Given the description of an element on the screen output the (x, y) to click on. 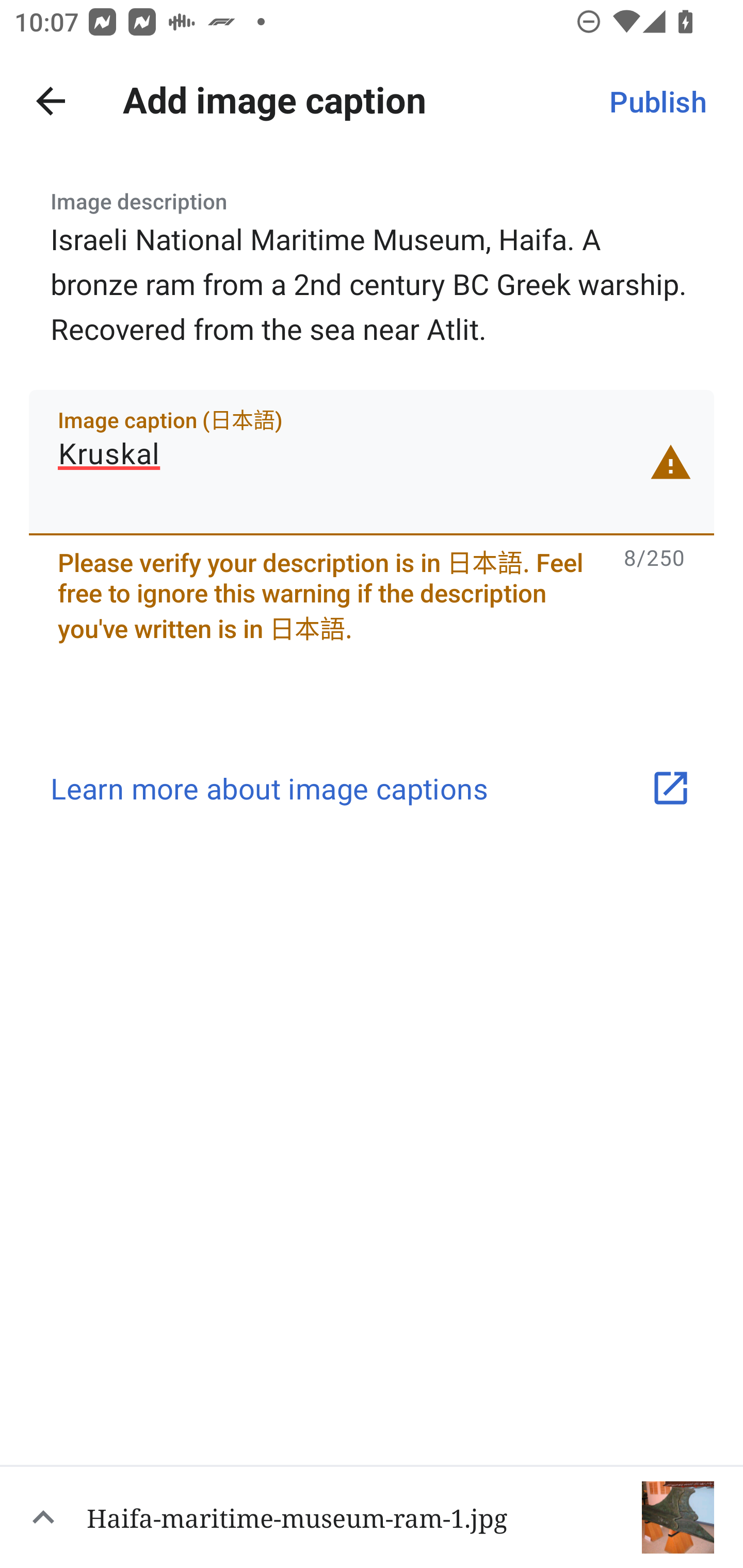
Cancel (50, 101)
Publish (657, 101)
Kruskal
 (371, 462)
Learn more about image captions (371, 787)
Haifa-maritime-museum-ram-1.jpg (371, 1516)
